Given the description of an element on the screen output the (x, y) to click on. 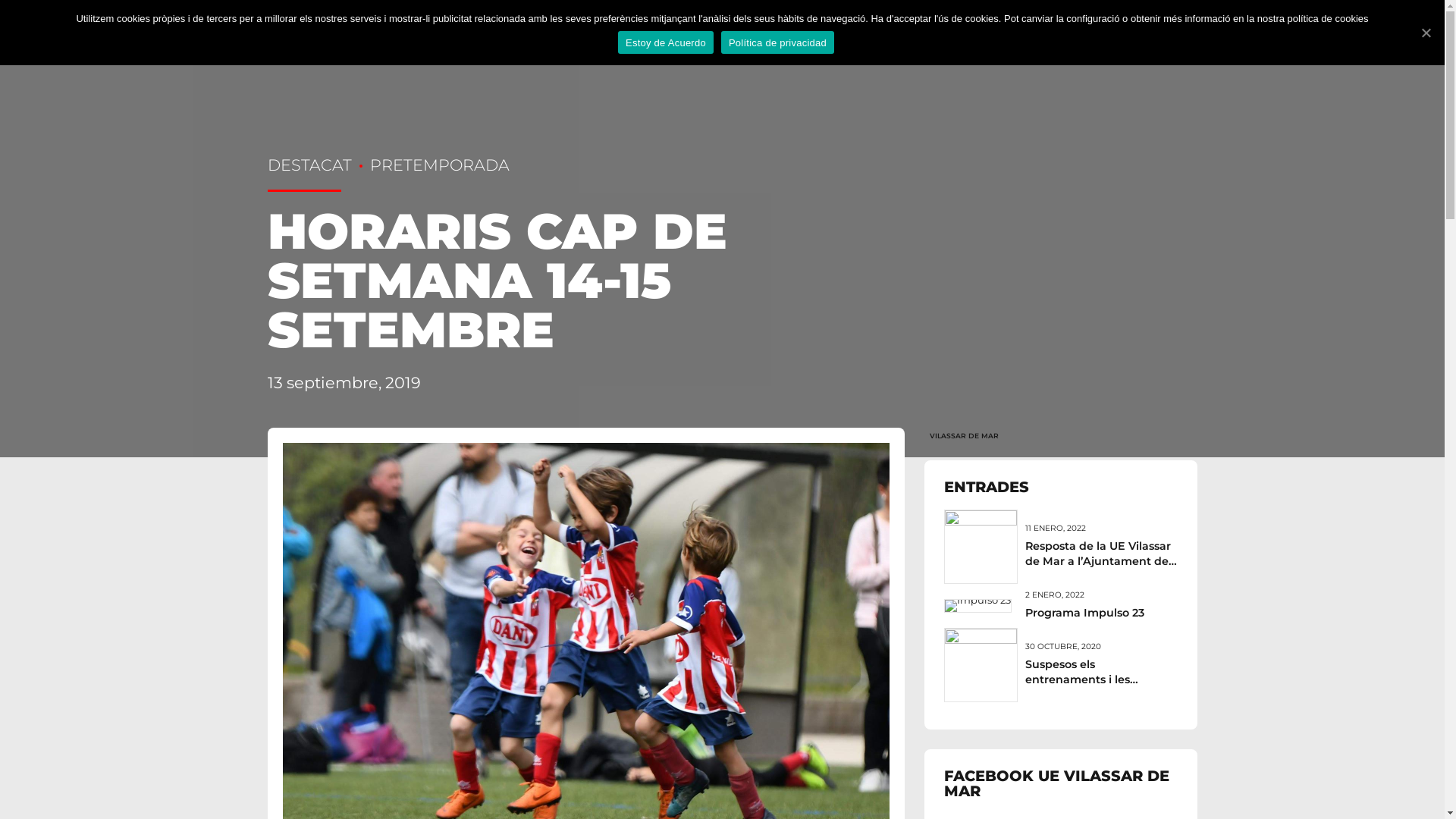
Programa Impulso 23 Element type: text (1084, 612)
PRETEMPORADA Element type: text (430, 164)
Estoy de Acuerdo Element type: text (665, 42)
DESTACAT Element type: text (308, 164)
